Given the description of an element on the screen output the (x, y) to click on. 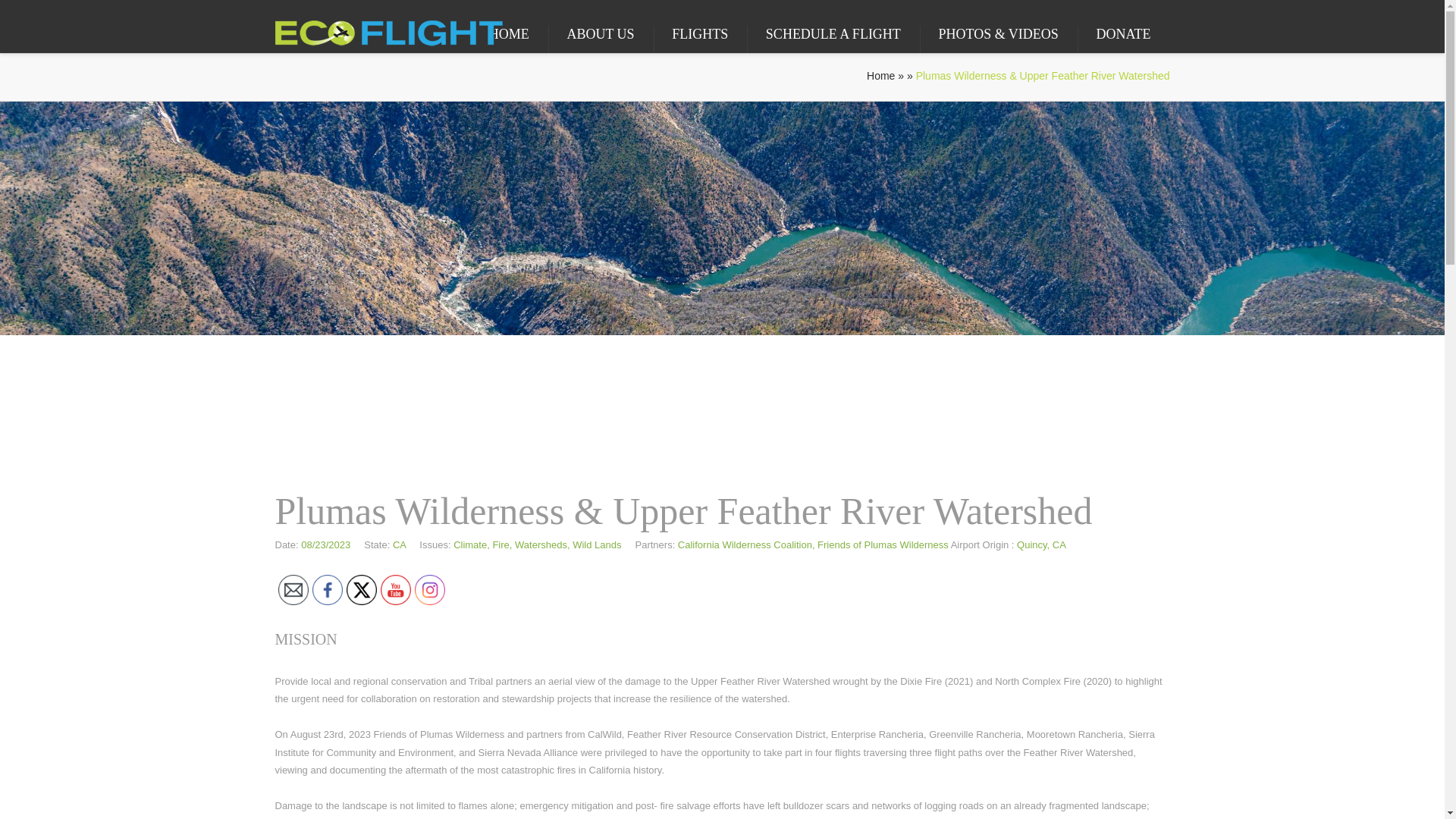
Follow by Email (292, 589)
Facebook (327, 589)
Twitter (360, 589)
ABOUT US (599, 34)
HOME (509, 34)
